Given the description of an element on the screen output the (x, y) to click on. 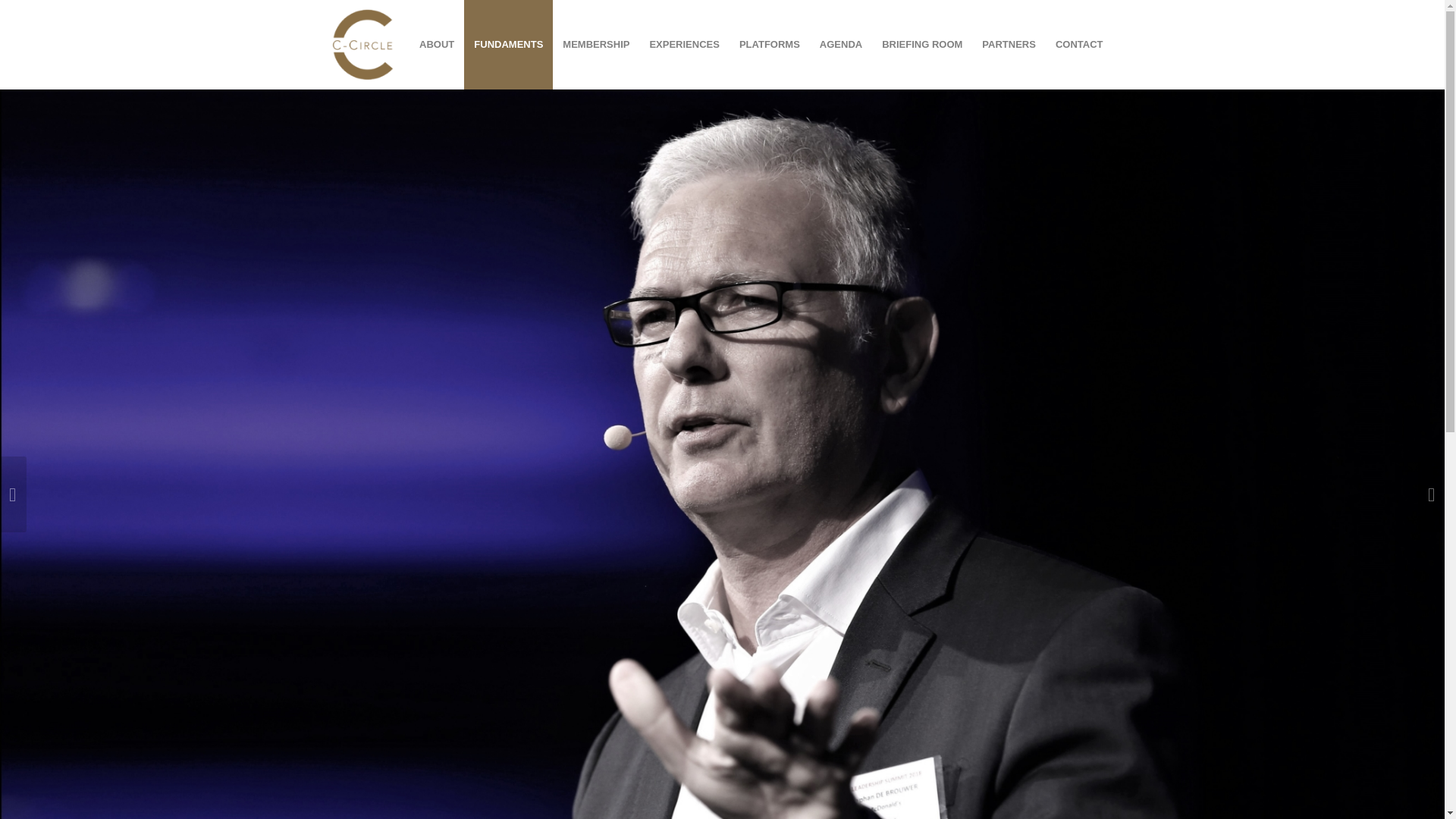
FUNDAMENTS (508, 44)
MEMBERSHIP (596, 44)
BRIEFING ROOM (922, 44)
PLATFORMS (769, 44)
EXPERIENCES (684, 44)
